Given the description of an element on the screen output the (x, y) to click on. 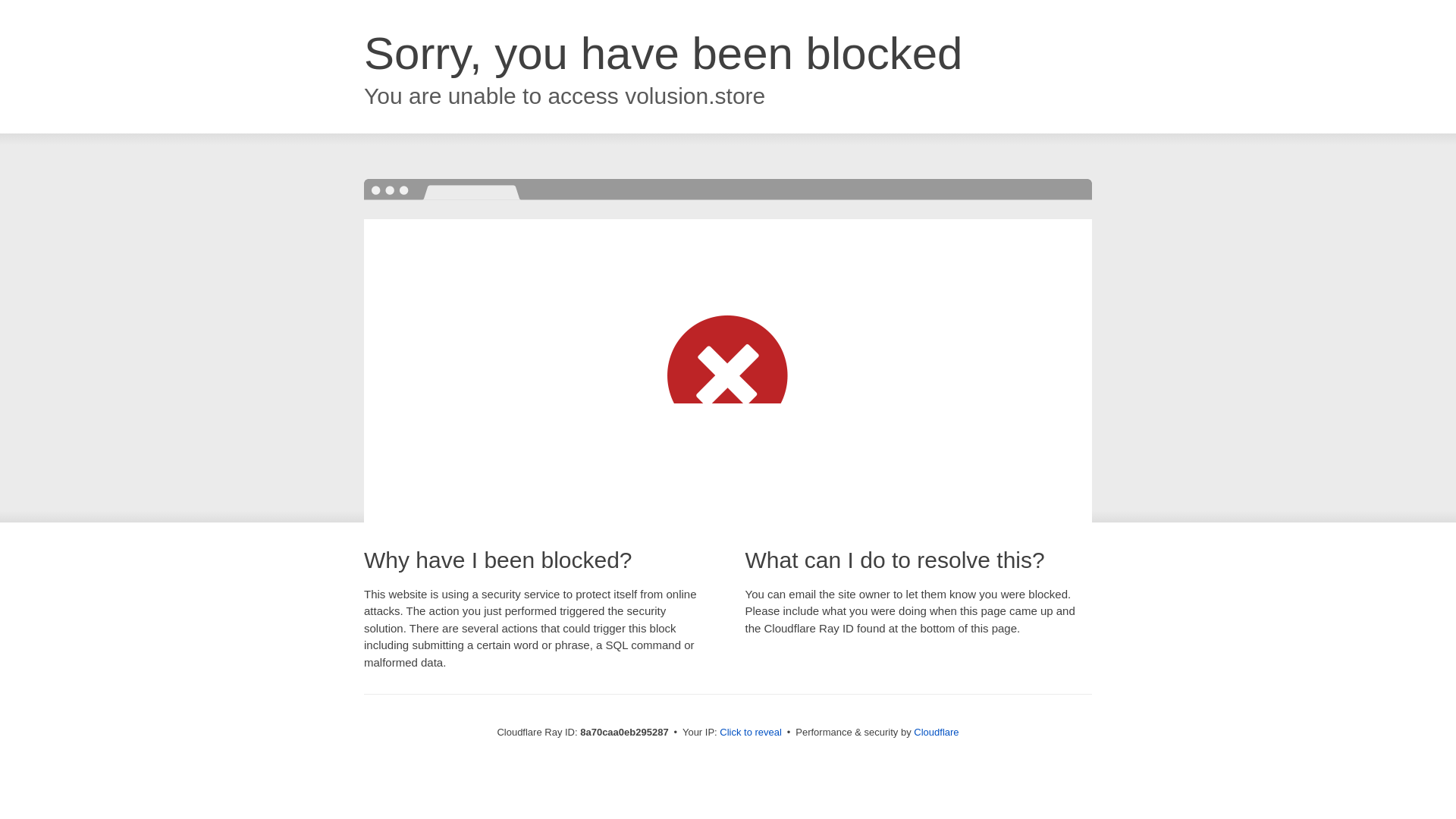
Cloudflare (936, 731)
Click to reveal (750, 732)
